Given the description of an element on the screen output the (x, y) to click on. 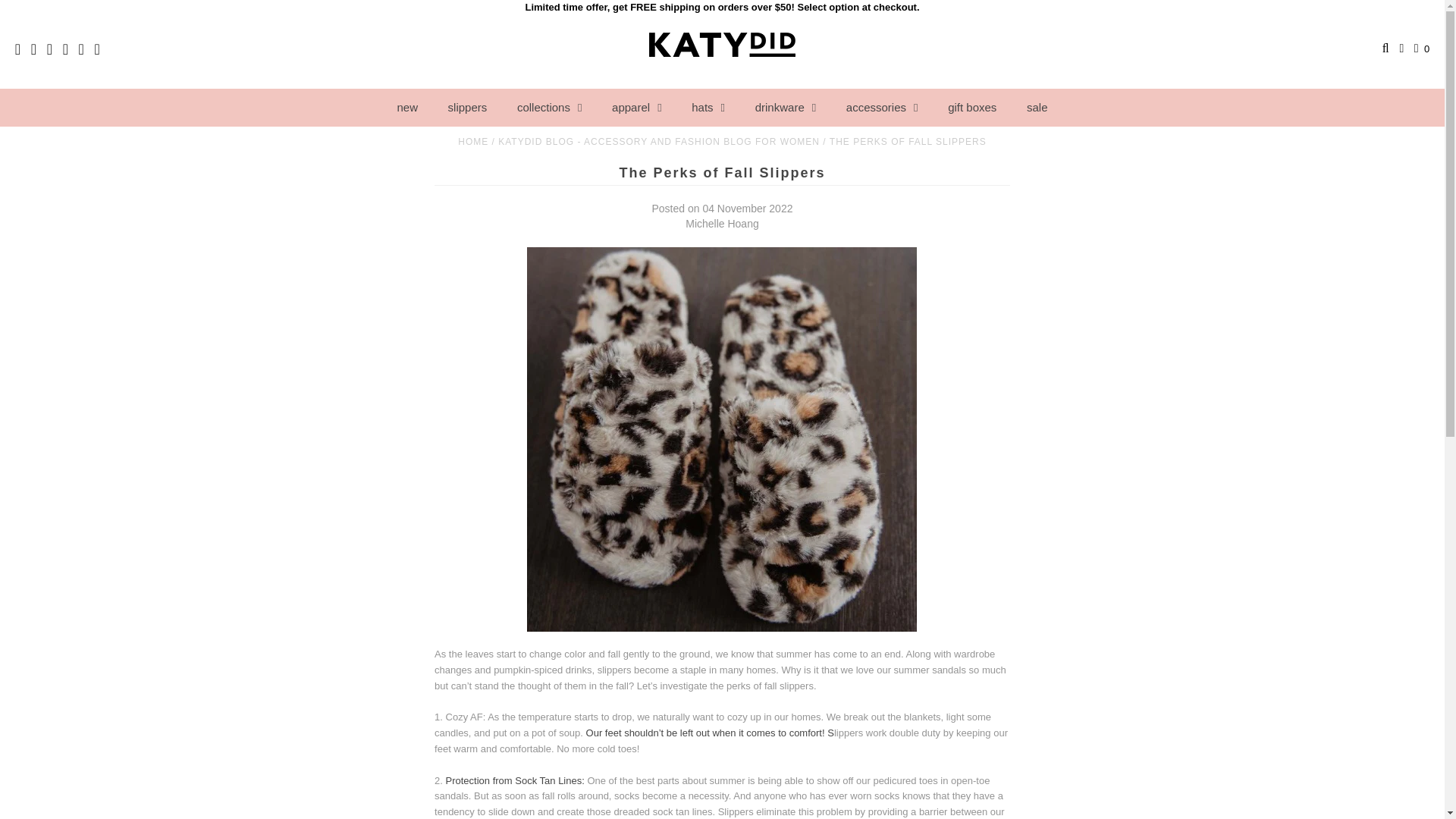
Home (475, 141)
womens slippers, happy slippers, winter slippers (710, 732)
womens slippers, womens fuzzy slippers (515, 780)
